Given the description of an element on the screen output the (x, y) to click on. 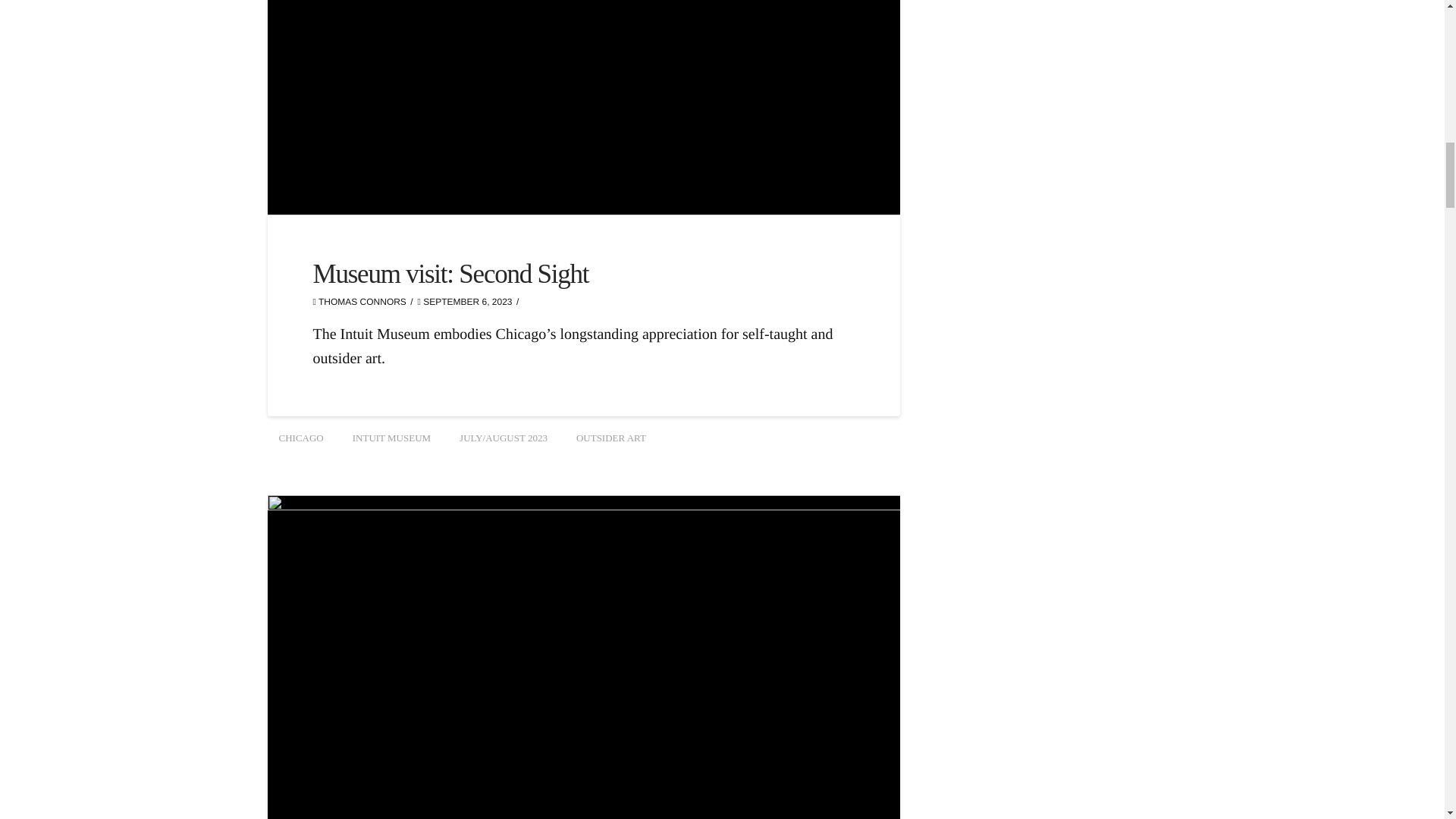
CHICAGO (300, 438)
OUTSIDER ART (611, 438)
INTUIT MUSEUM (391, 438)
Permalink to: "Museum visit: Second Sight" (450, 274)
Museum visit: Second Sight (450, 274)
